Given the description of an element on the screen output the (x, y) to click on. 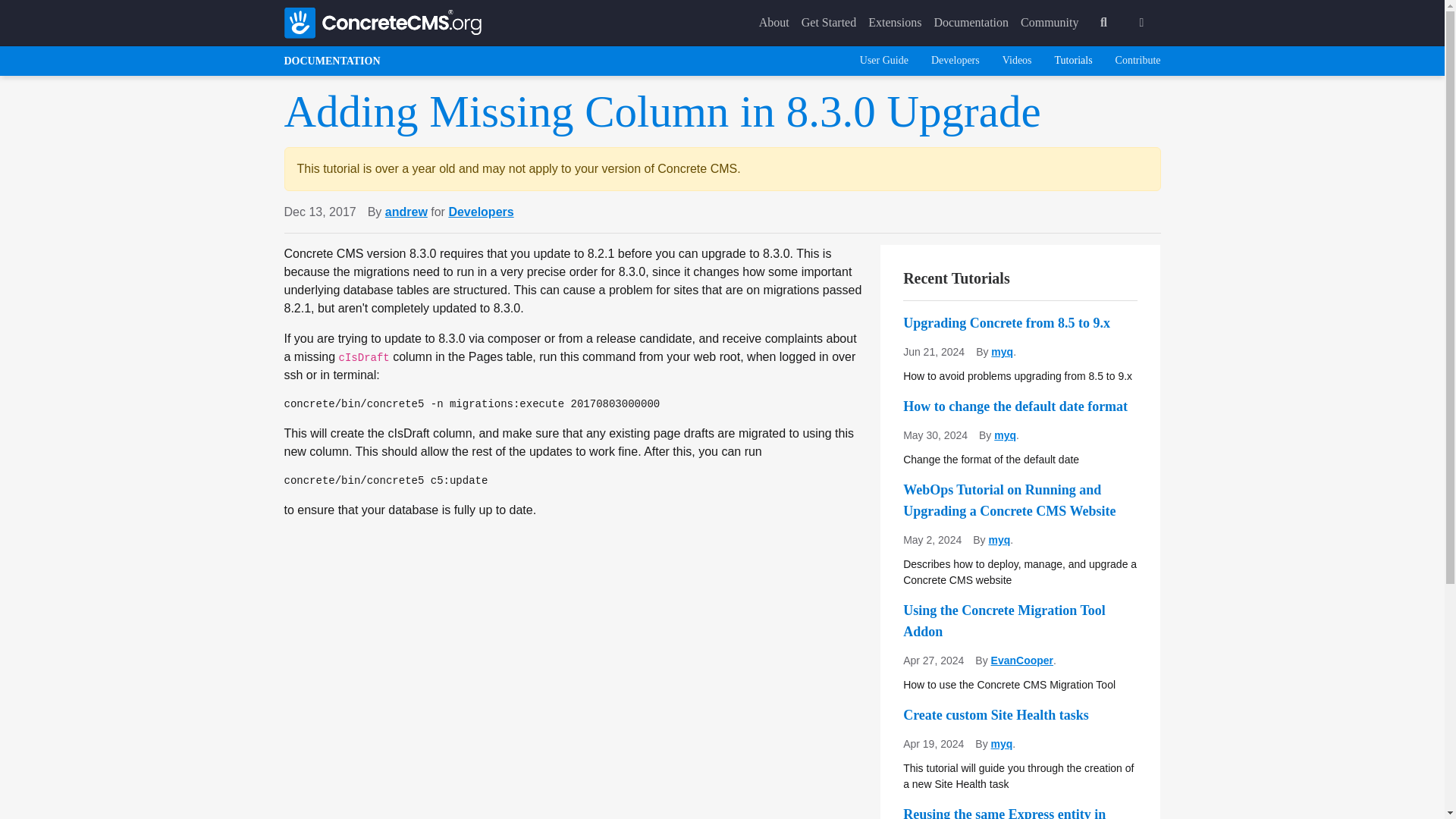
How to change the default date format (1019, 405)
Extensions (894, 22)
Developers (480, 211)
Documentation (970, 22)
Contribute (1137, 60)
Tutorials (1073, 60)
myq (1002, 351)
Videos (1017, 60)
Upgrading Concrete from 8.5 to 9.x (1019, 322)
Developers (955, 60)
Search (1103, 22)
Community (1049, 22)
Get Started (827, 22)
About (773, 22)
User Guide (884, 60)
